Given the description of an element on the screen output the (x, y) to click on. 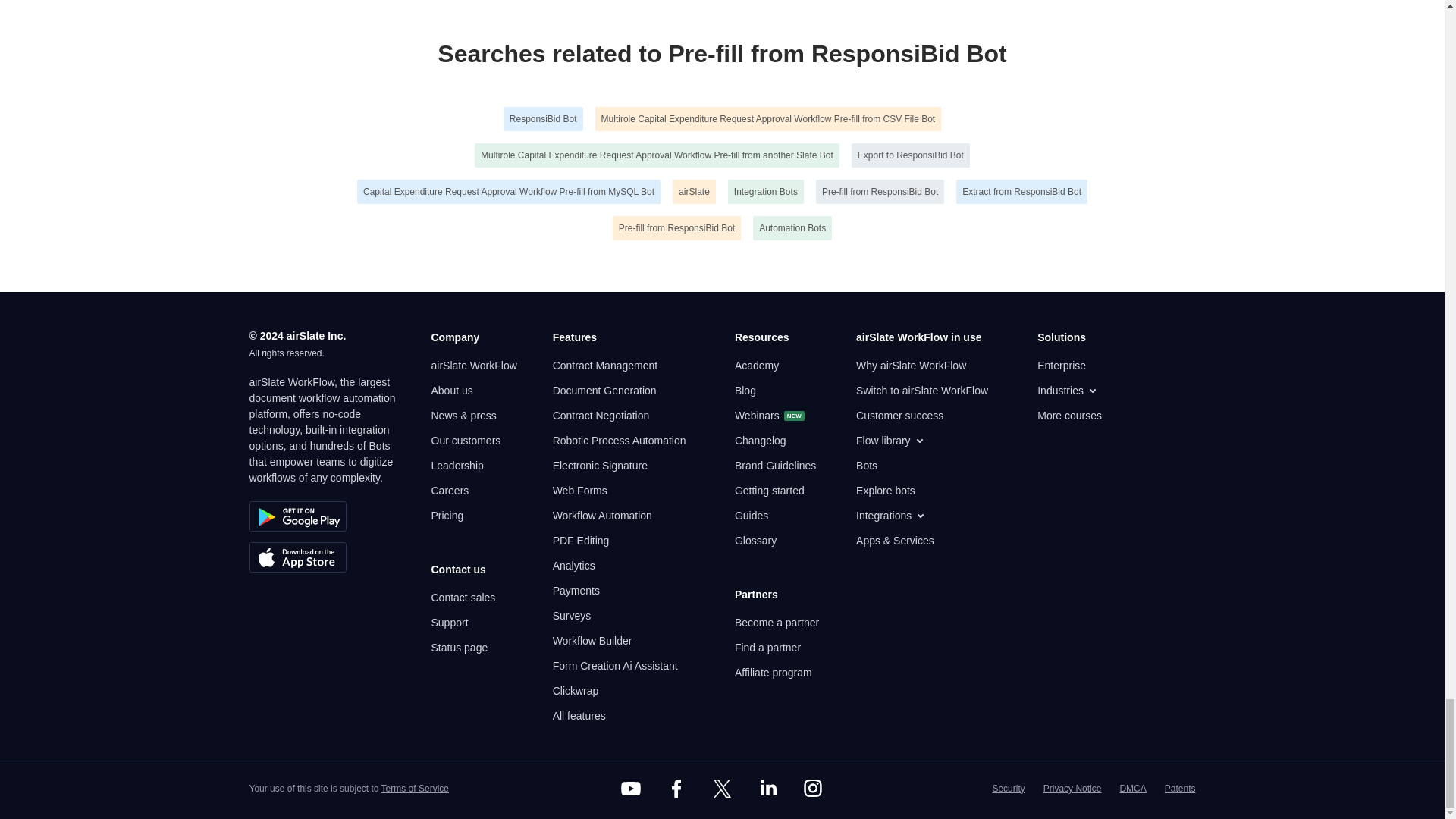
YouTube (630, 788)
LinkedIn (767, 788)
Instagram (812, 788)
Facebook (676, 788)
Twitter (721, 788)
